Given the description of an element on the screen output the (x, y) to click on. 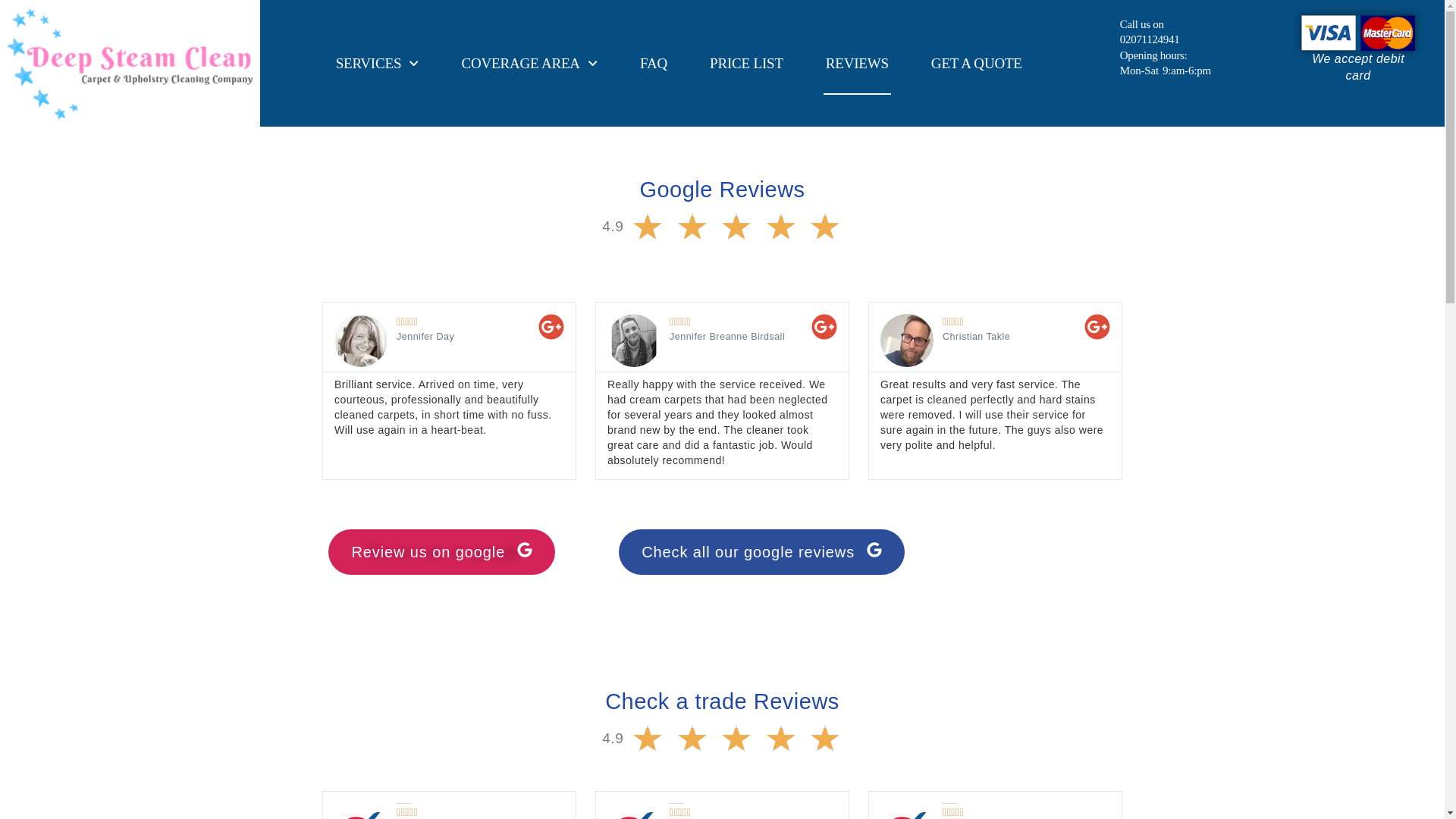
REVIEWS (857, 63)
We accept visa debit card (1358, 32)
SERVICES (374, 63)
GET A QUOTE (976, 63)
PRICE LIST (746, 63)
COVERAGE AREA (528, 63)
